Given the description of an element on the screen output the (x, y) to click on. 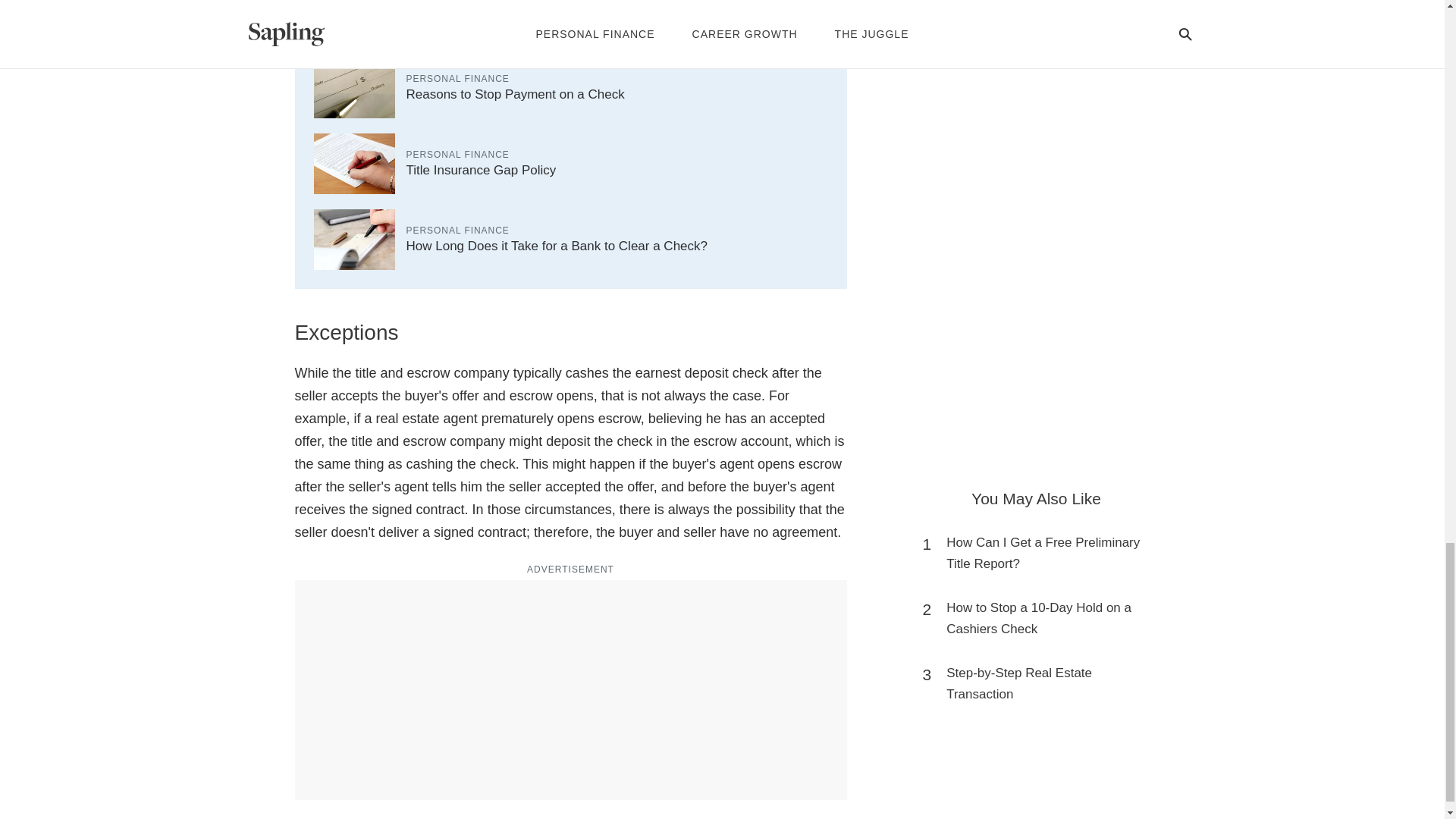
Step-by-Step Real Estate Transaction (1043, 683)
Title Insurance Gap Policy (481, 169)
Reasons to Stop Payment on a Check (515, 93)
How Long Does it Take for a Bank to Clear a Check? (556, 246)
How to Stop a 10-Day Hold on a Cashiers Check (1043, 618)
How Can I Get a Free Preliminary Title Report? (1043, 553)
